Given the description of an element on the screen output the (x, y) to click on. 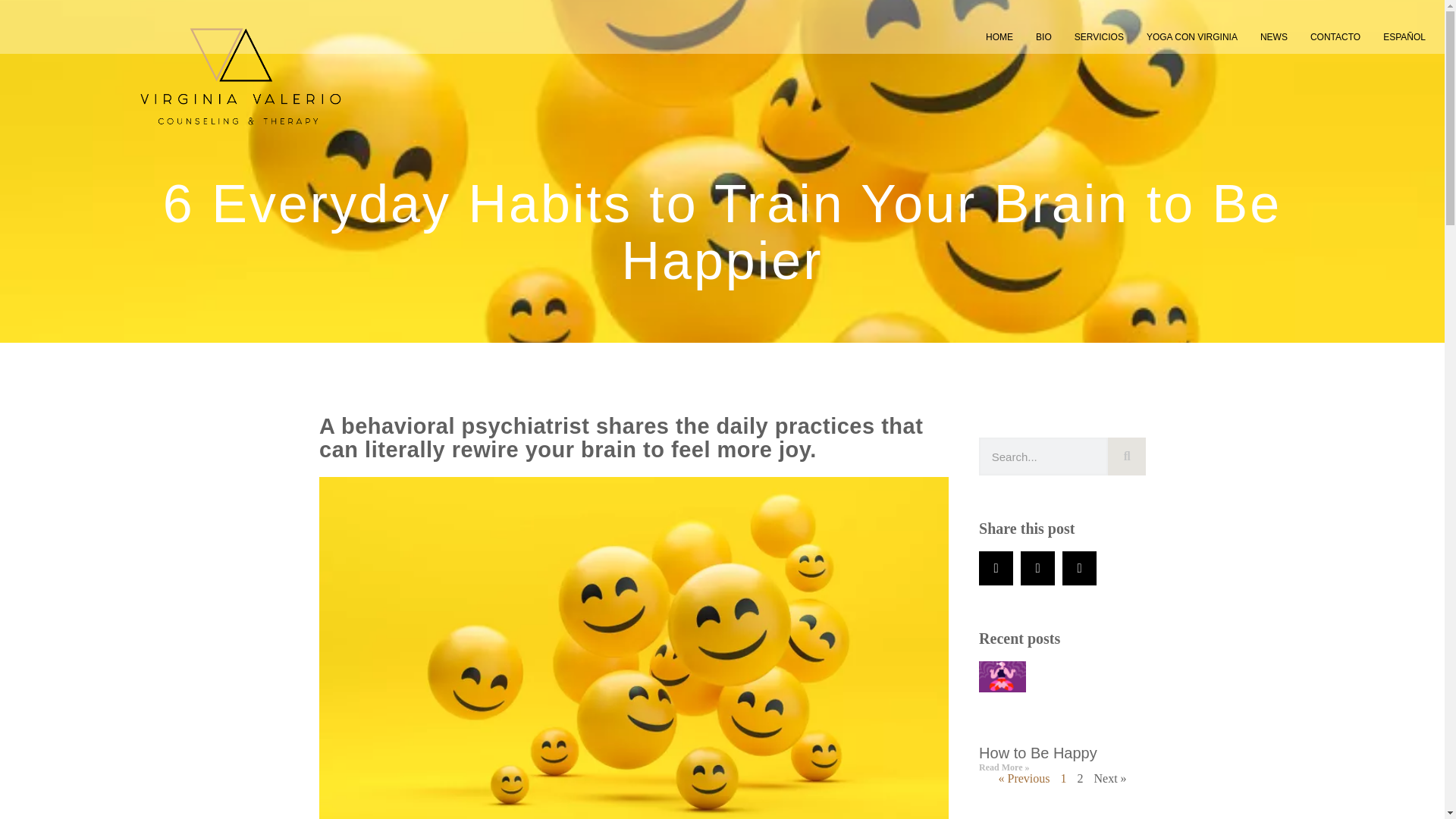
HOME (999, 36)
NEWS (1273, 36)
SERVICIOS (1098, 36)
How to Be Happy (1037, 752)
BIO (1043, 36)
YOGA CON VIRGINIA (1192, 36)
CONTACTO (1334, 36)
